Given the description of an element on the screen output the (x, y) to click on. 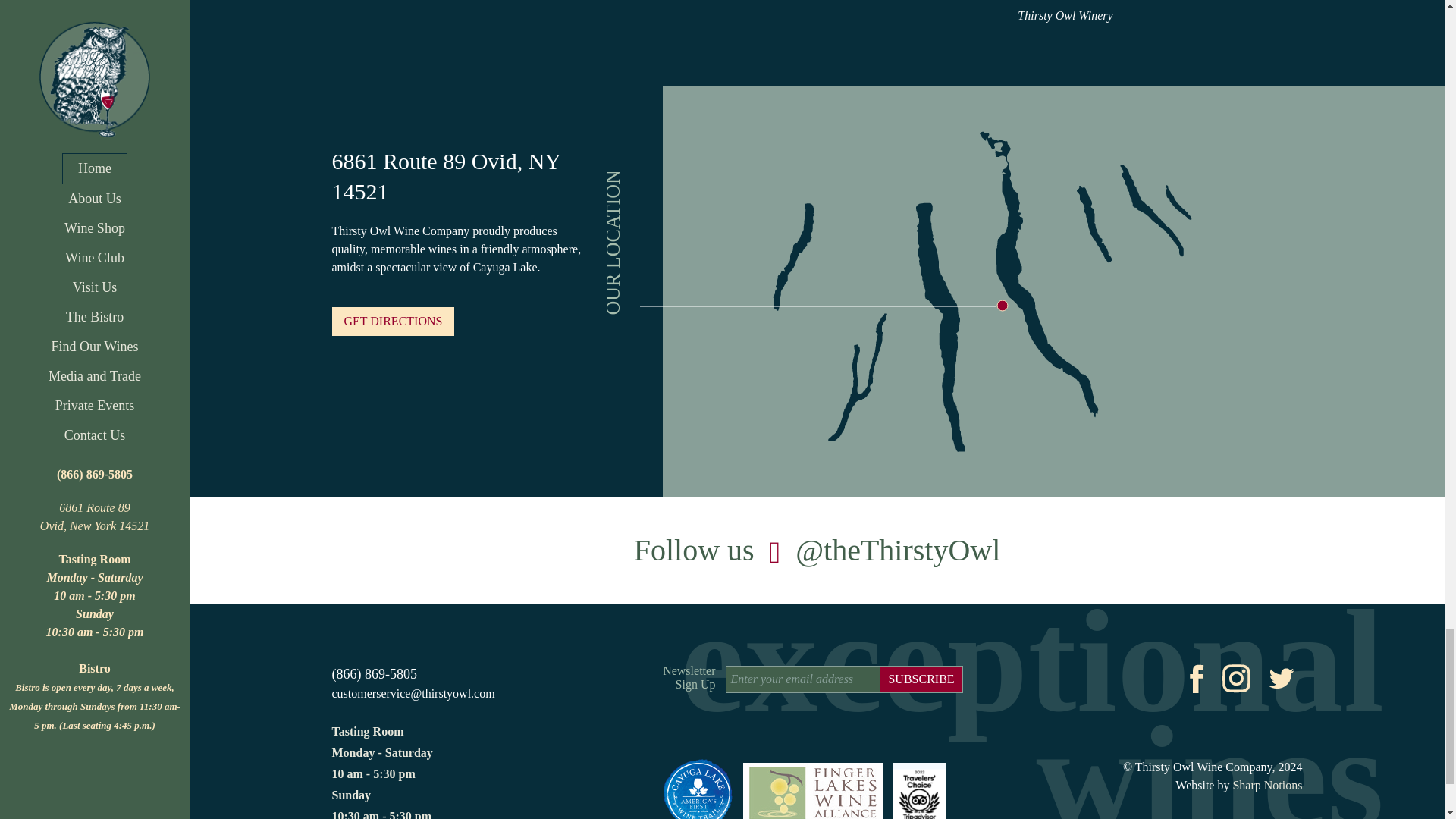
Subscribe (920, 678)
Sharp Notions (1266, 784)
SUBSCRIBE (920, 678)
GET DIRECTIONS (392, 321)
